Given the description of an element on the screen output the (x, y) to click on. 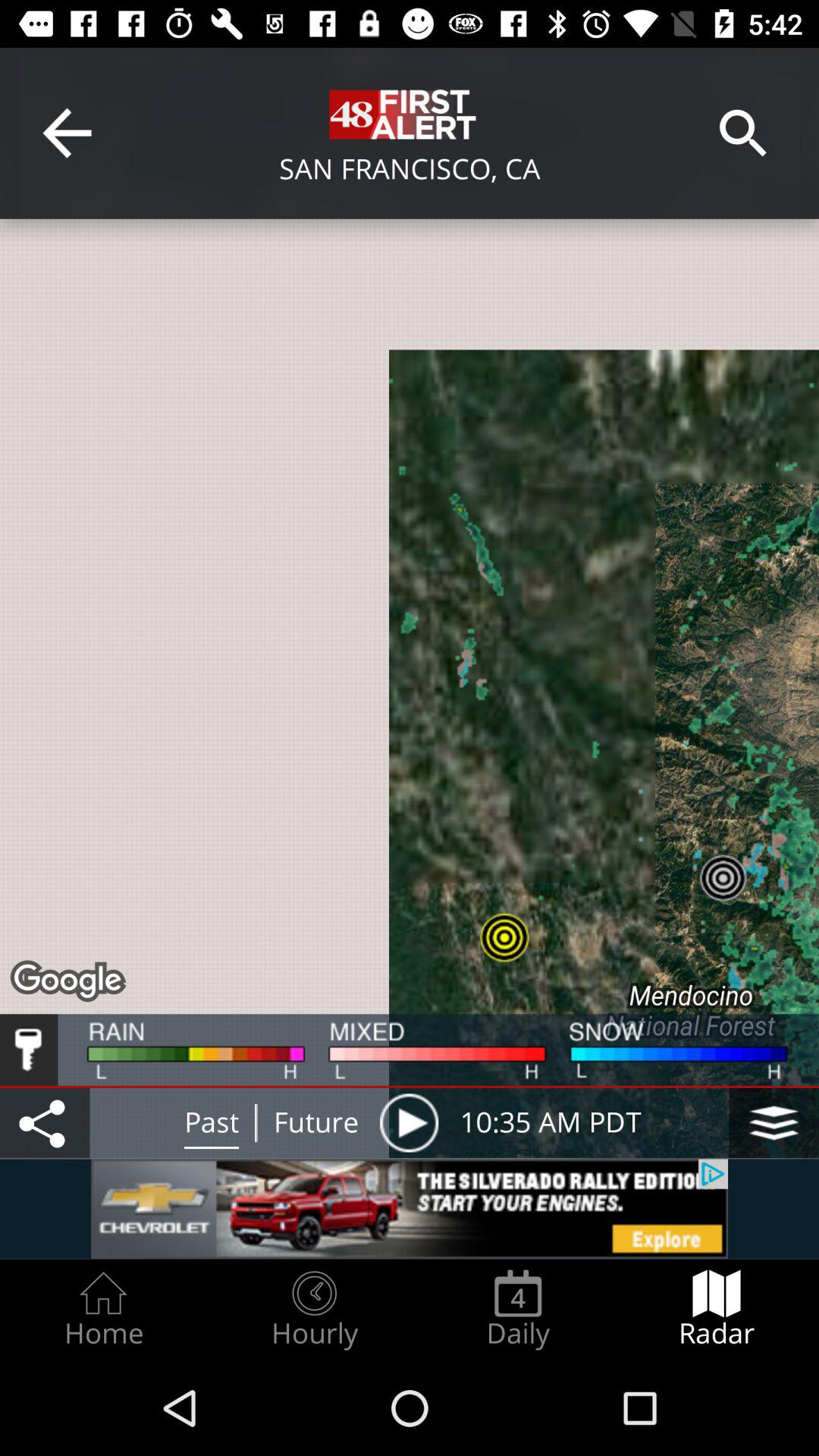
change map layers (774, 1122)
